Given the description of an element on the screen output the (x, y) to click on. 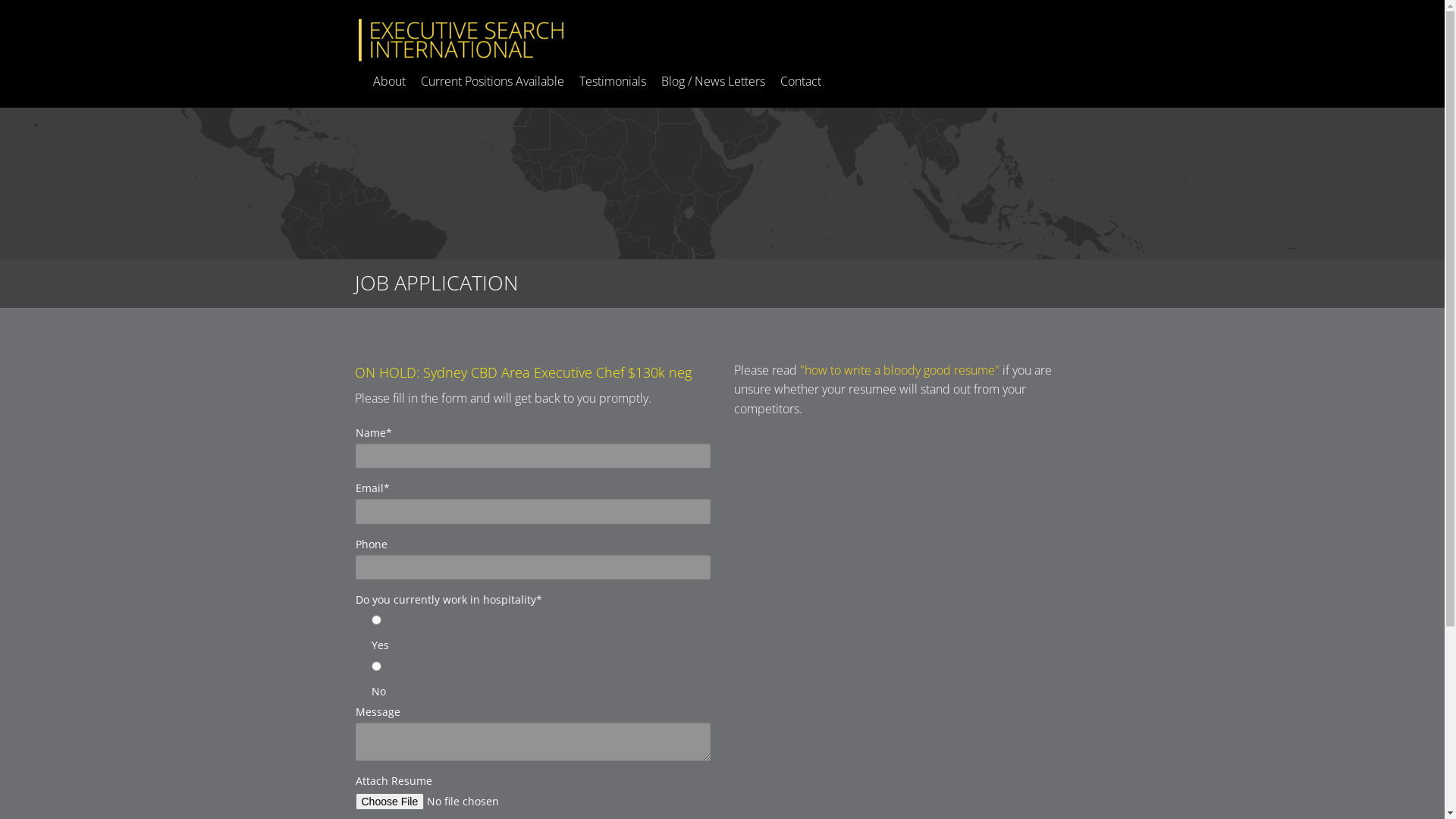
Blog / News Letters Element type: text (712, 80)
"how to write a bloody good resume" Element type: text (898, 369)
Yes Element type: text (376, 619)
About Element type: text (388, 80)
Testimonials Element type: text (611, 80)
No Element type: text (376, 666)
Current Positions Available Element type: text (492, 80)
Contact Element type: text (800, 80)
